Given the description of an element on the screen output the (x, y) to click on. 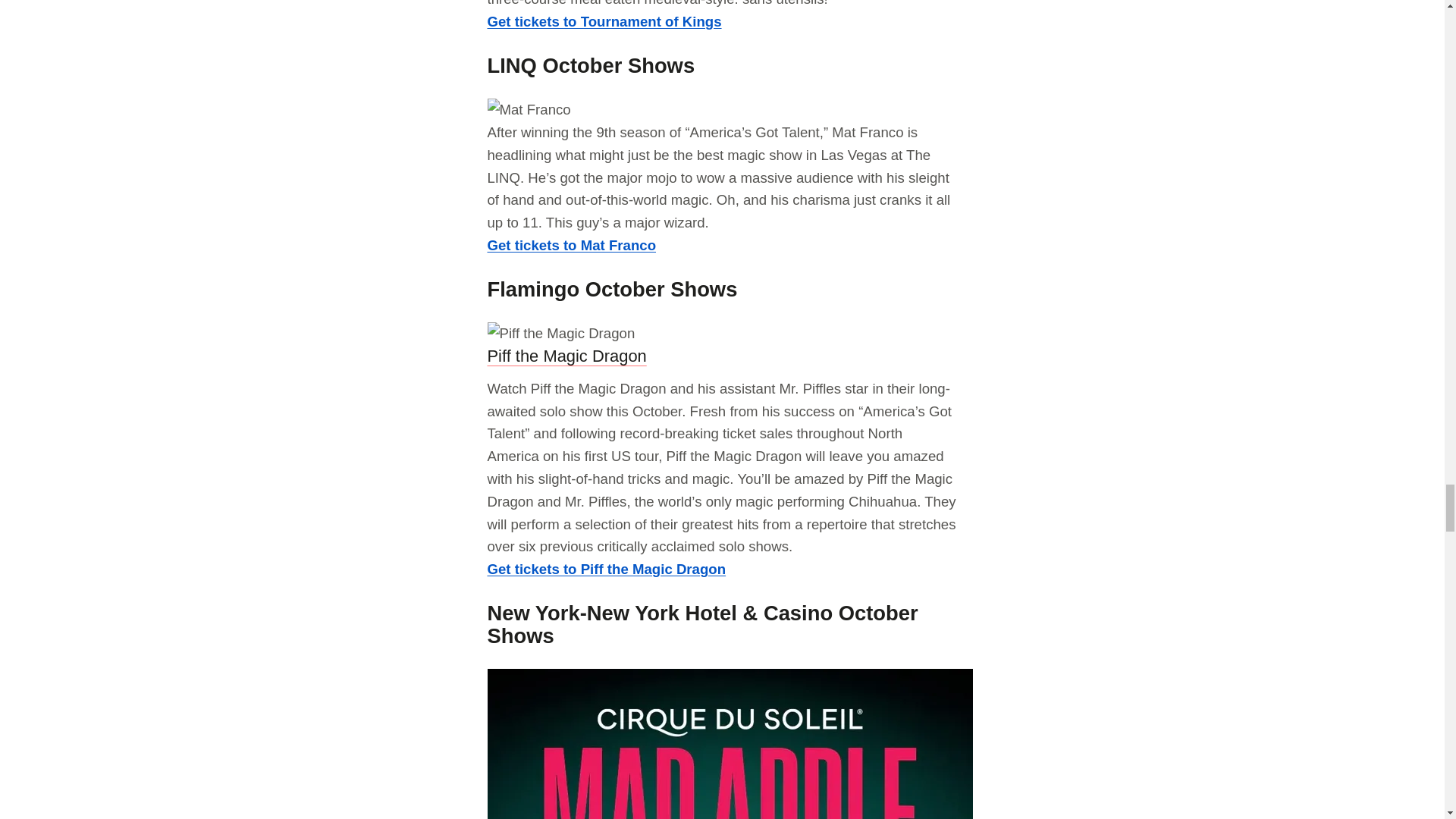
Get tickets to Tournament of Kings (603, 21)
Mad Apple by Cirque du Soleil Las Vegas 2023 (729, 744)
Get tickets to Piff the Magic Dragon (605, 569)
Get tickets to Mat Franco (571, 245)
